Given the description of an element on the screen output the (x, y) to click on. 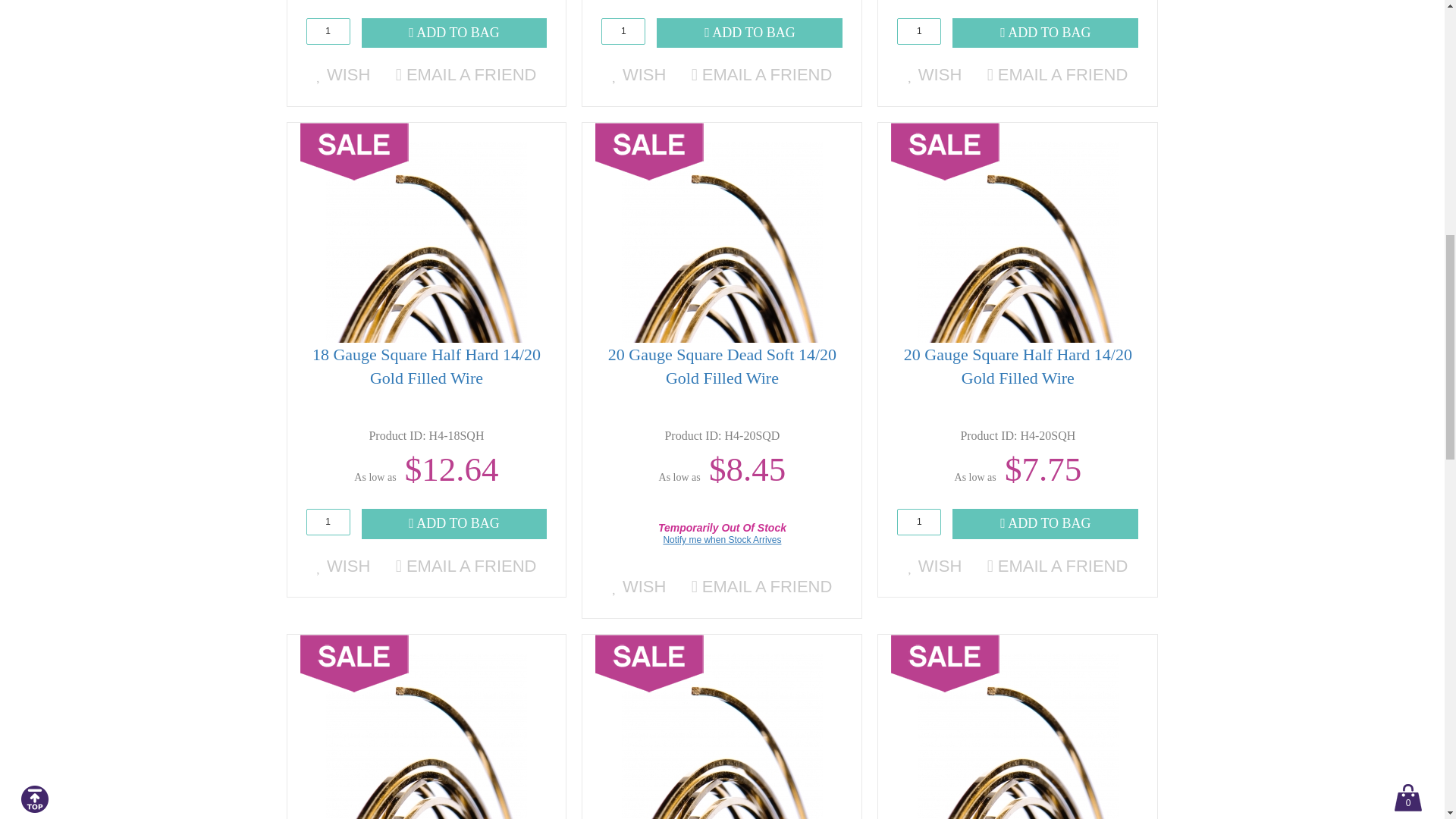
1 (623, 31)
1 (918, 521)
1 (327, 31)
1 (327, 521)
1 (918, 31)
